Given the description of an element on the screen output the (x, y) to click on. 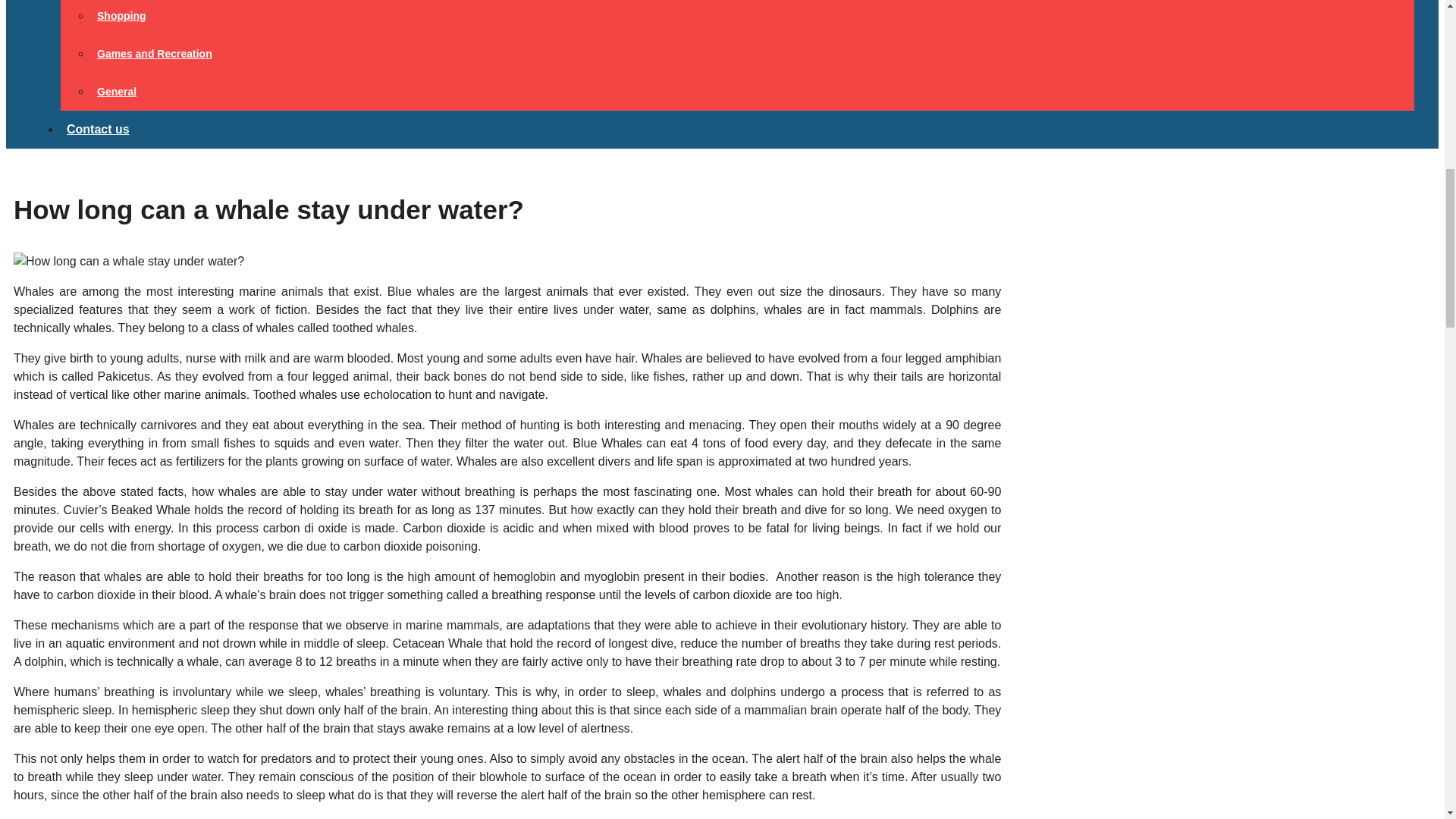
Shopping (121, 15)
Contact us (98, 128)
Games and Recreation (154, 53)
General (116, 91)
